Given the description of an element on the screen output the (x, y) to click on. 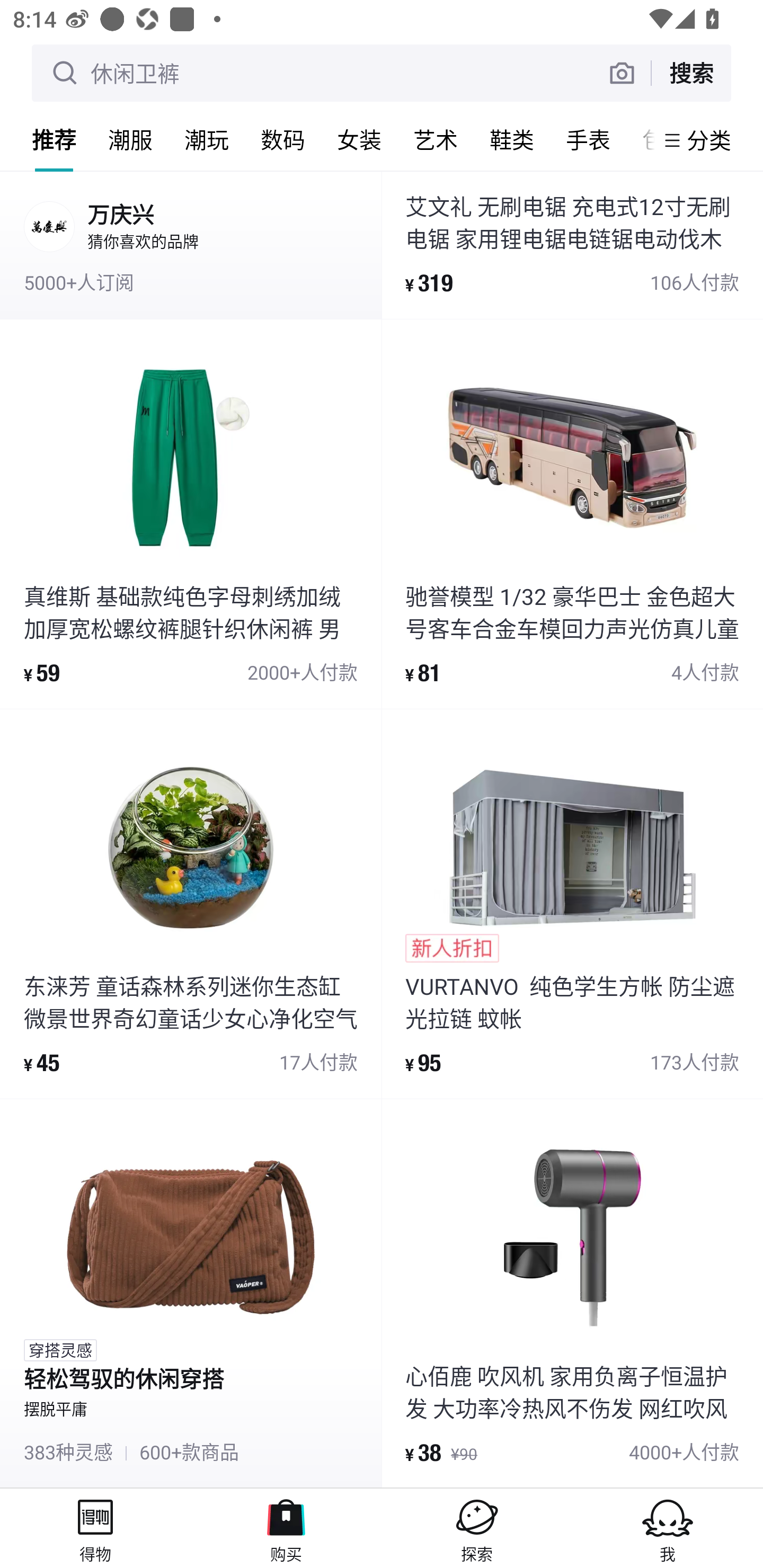
搜索 (690, 72)
推荐 (54, 139)
潮服 (130, 139)
潮玩 (206, 139)
数码 (282, 139)
女装 (359, 139)
艺术 (435, 139)
鞋类 (511, 139)
手表 (588, 139)
分类 (708, 139)
万庆兴 猜你喜欢的品牌 5000+人订阅 (190, 244)
穿搭灵感 轻松驾驭的休闲穿搭 摆脱平庸 383种灵感 # 600+款商品 (190, 1293)
得物 (95, 1528)
购买 (285, 1528)
探索 (476, 1528)
我 (667, 1528)
